Given the description of an element on the screen output the (x, y) to click on. 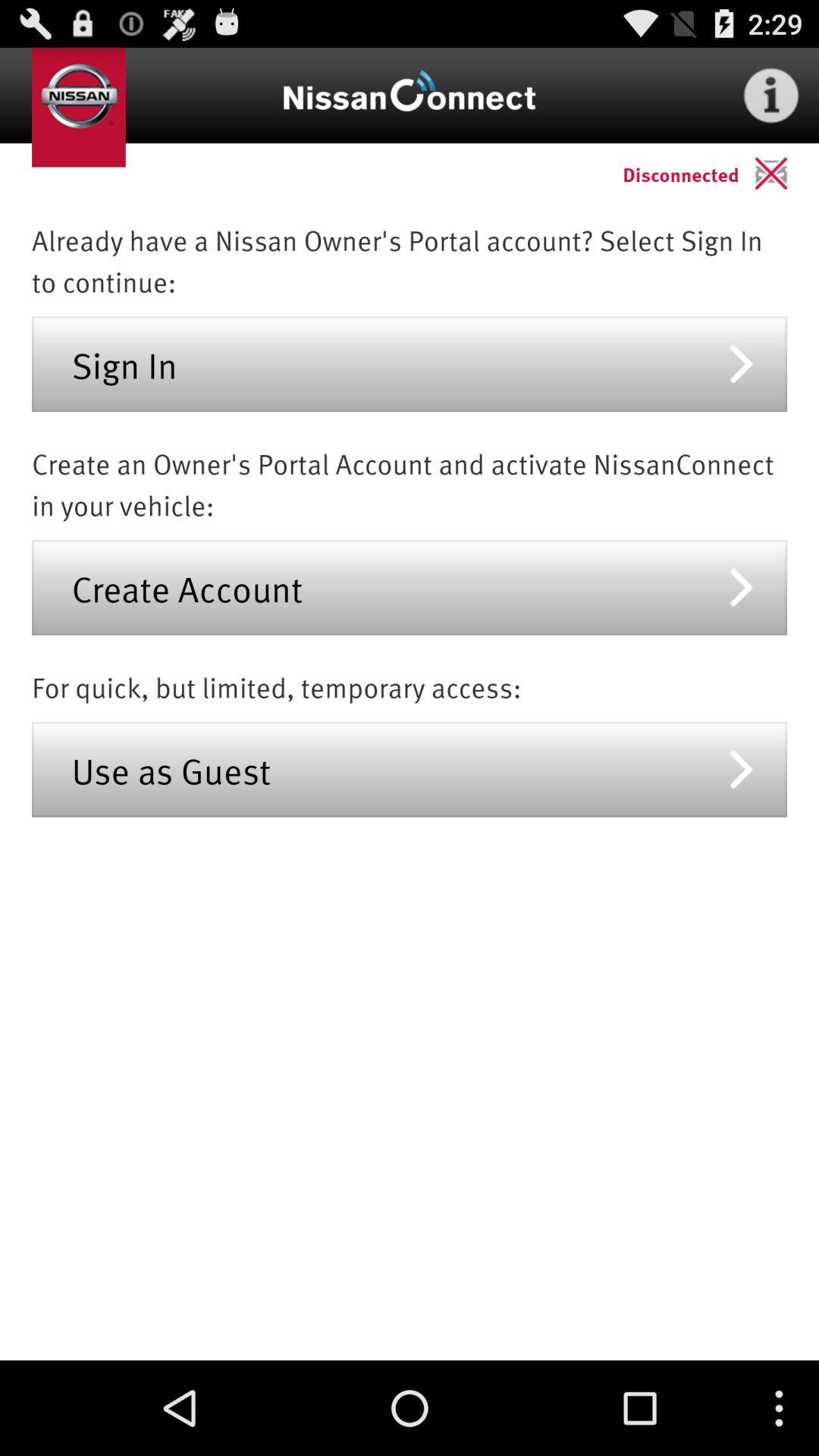
select the cancel bar (787, 173)
